Given the description of an element on the screen output the (x, y) to click on. 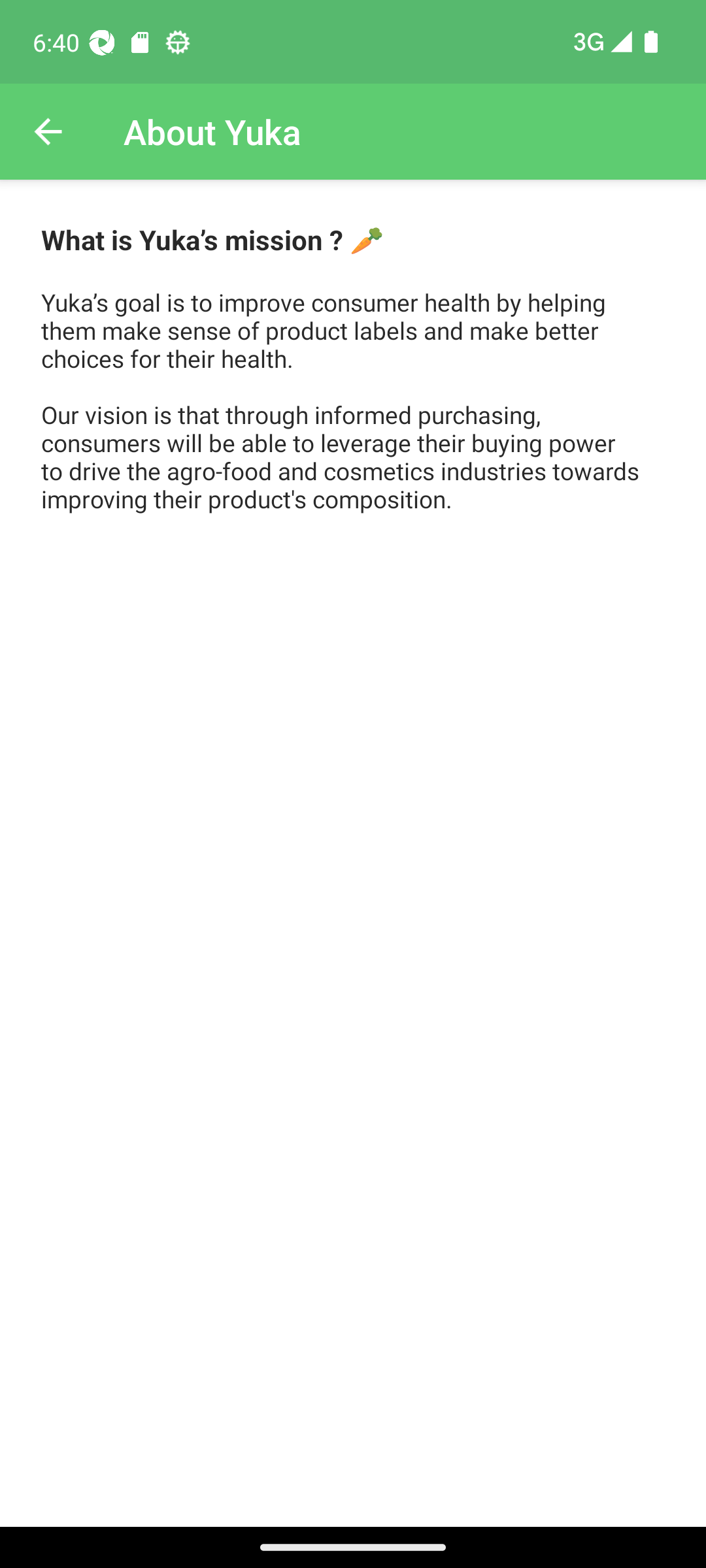
Navigate up (48, 131)
